Given the description of an element on the screen output the (x, y) to click on. 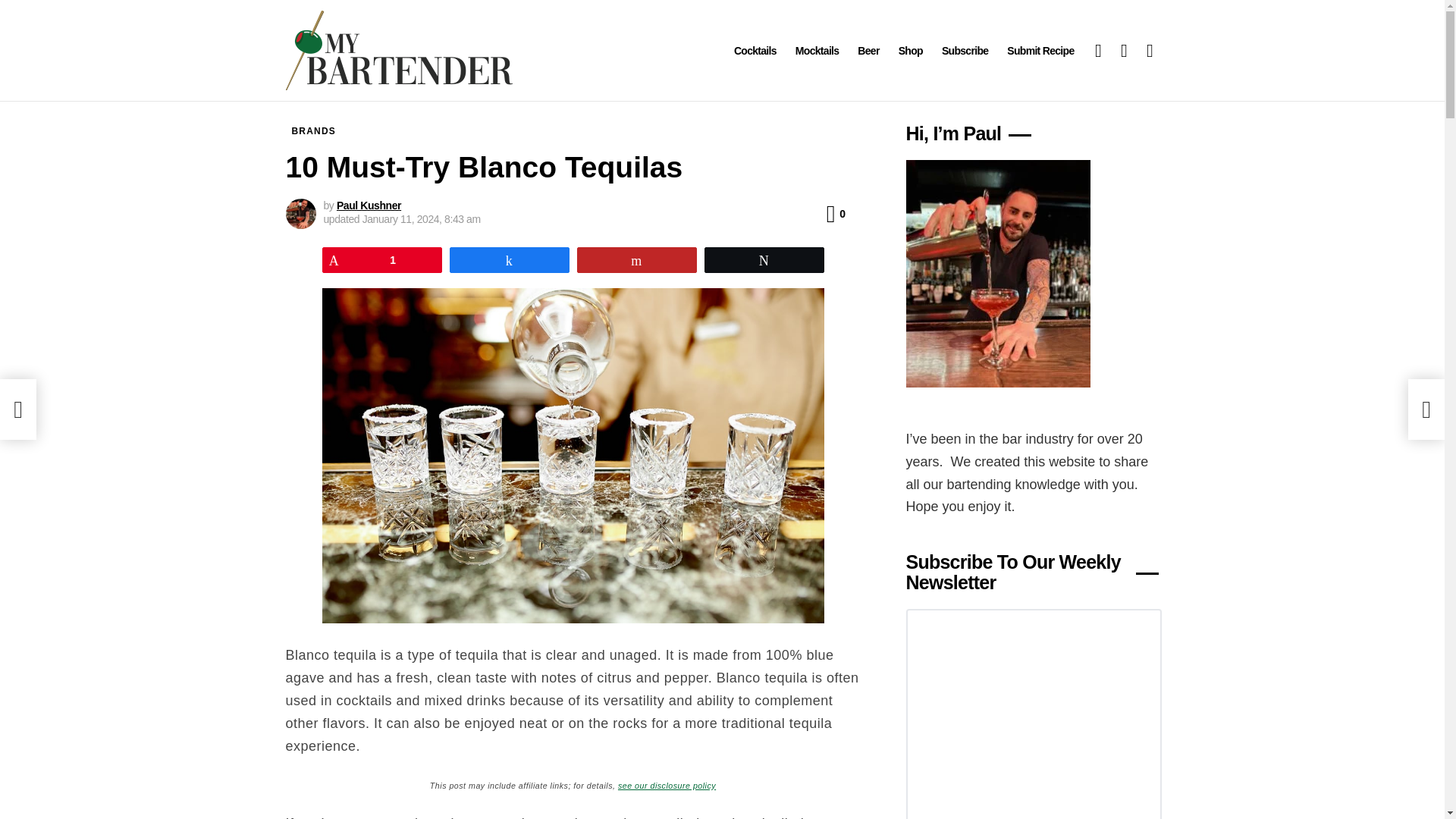
Posts by Paul Kushner (368, 205)
Cocktails (755, 50)
Subscribe (964, 50)
Submit Recipe (1039, 50)
see our disclosure policy (666, 783)
1 (382, 259)
Paul Kushner (368, 205)
Mocktails (817, 50)
BRANDS (313, 130)
